Given the description of an element on the screen output the (x, y) to click on. 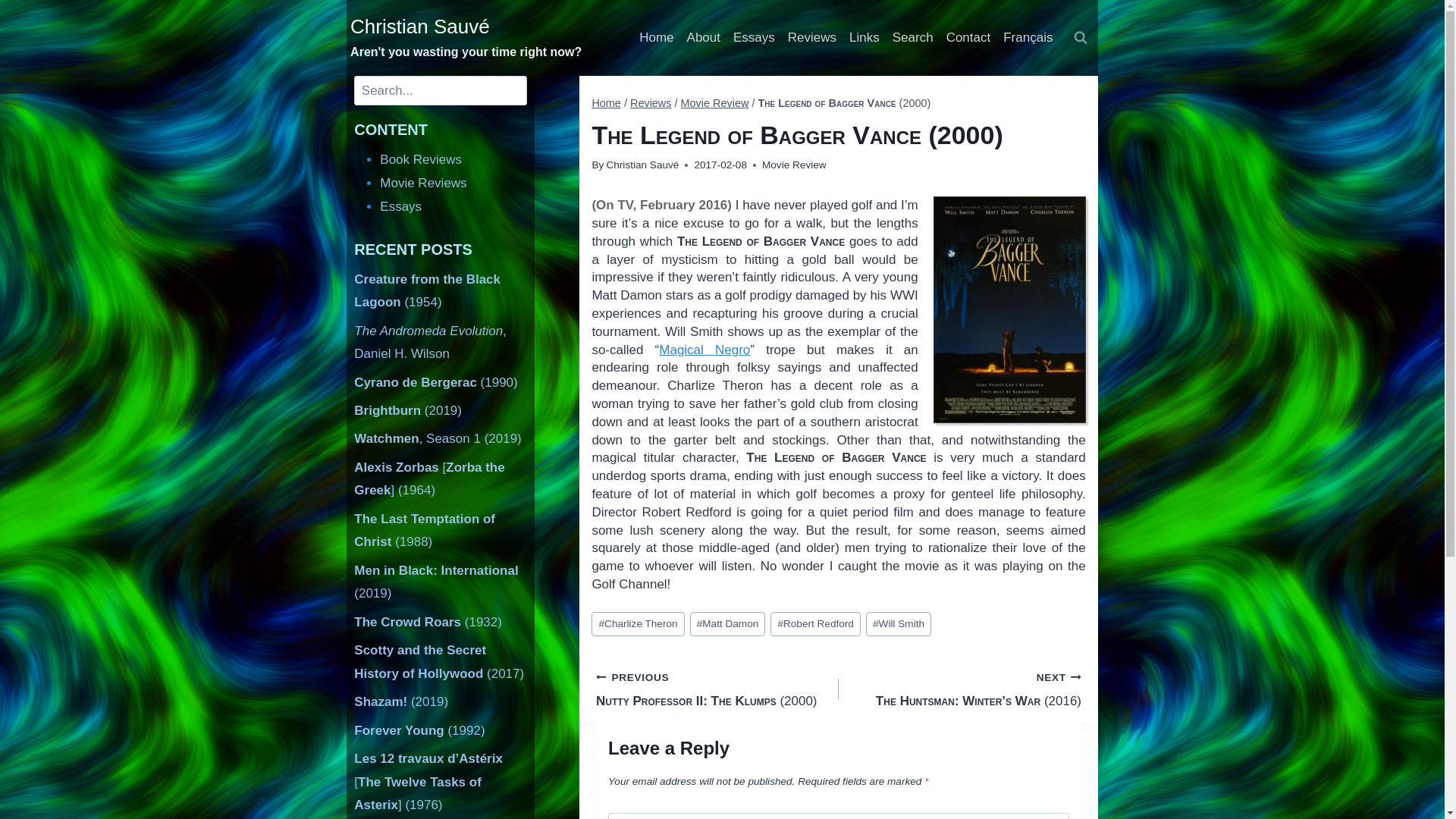
Links (864, 38)
Charlize Theron (637, 623)
Book Reviews (420, 159)
Matt Damon (727, 623)
Movie Review (794, 164)
Will Smith (898, 623)
Search (912, 38)
About (702, 38)
Robert Redford (815, 623)
Essays (401, 206)
